Given the description of an element on the screen output the (x, y) to click on. 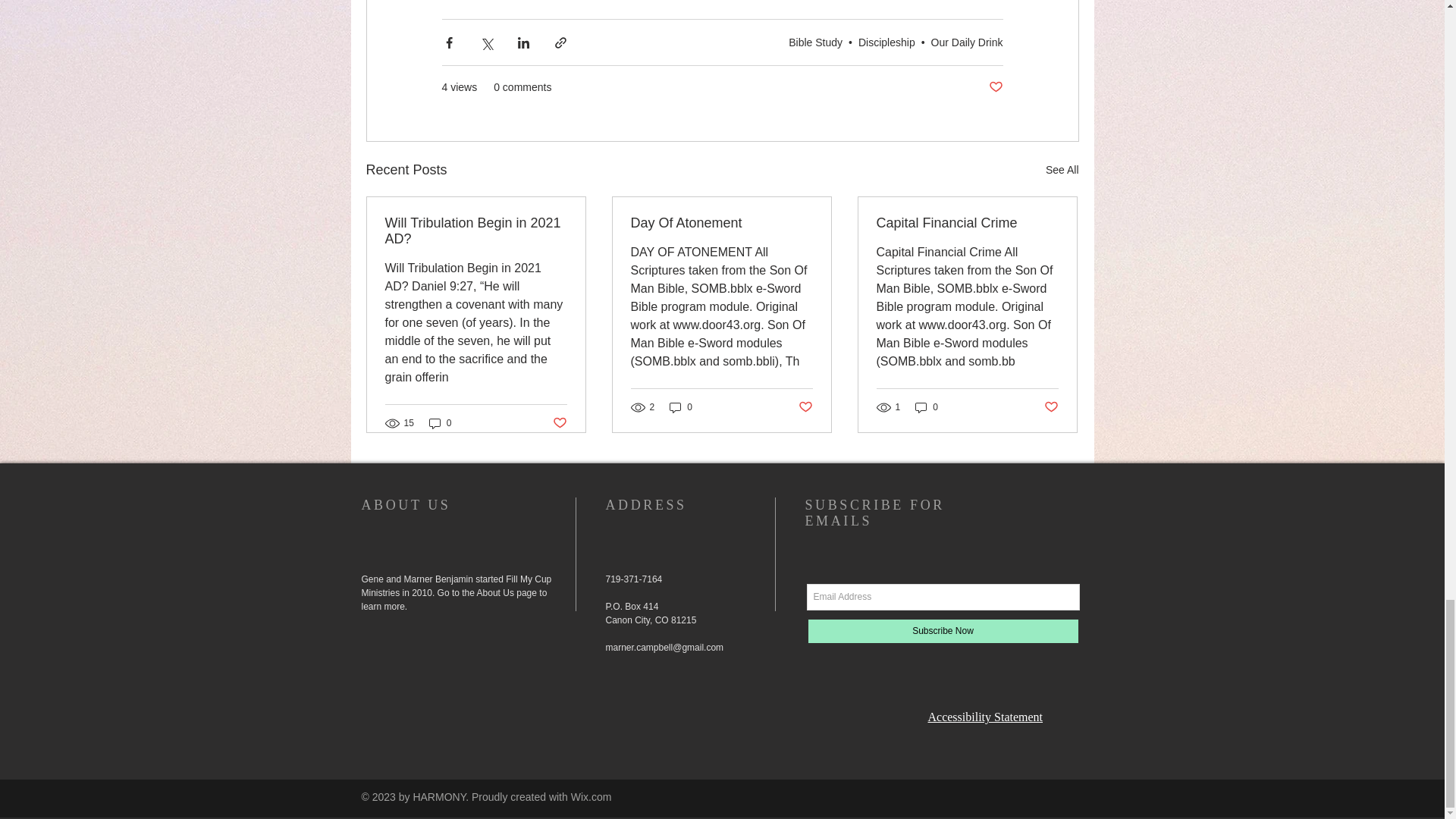
Bible Study (816, 42)
Discipleship (887, 42)
